Given the description of an element on the screen output the (x, y) to click on. 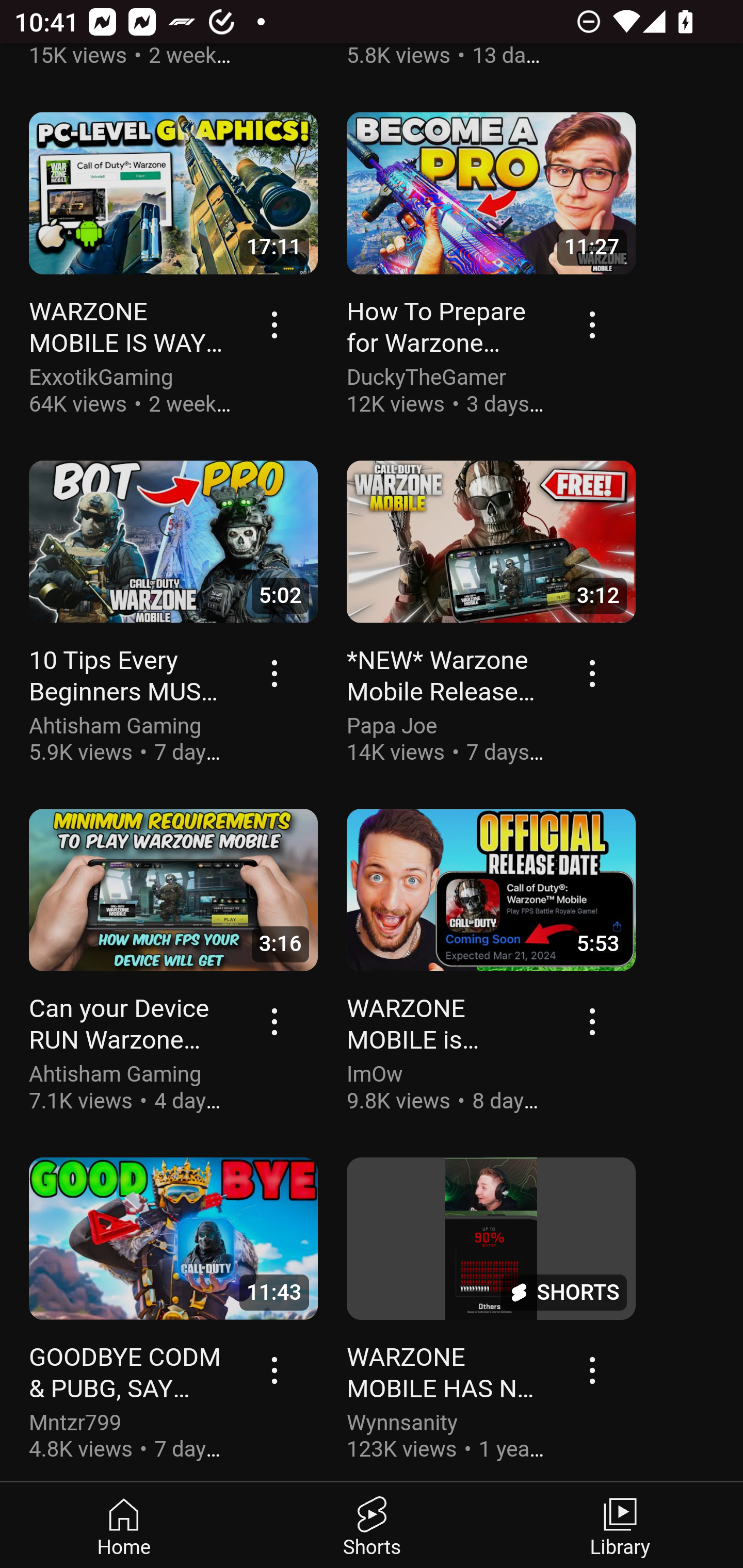
Action menu (275, 326)
Action menu (593, 326)
Action menu (275, 674)
Action menu (593, 674)
Action menu (275, 1022)
Action menu (593, 1022)
Action menu (275, 1370)
Action menu (593, 1370)
Home (124, 1525)
Shorts (371, 1525)
Library (618, 1525)
